Given the description of an element on the screen output the (x, y) to click on. 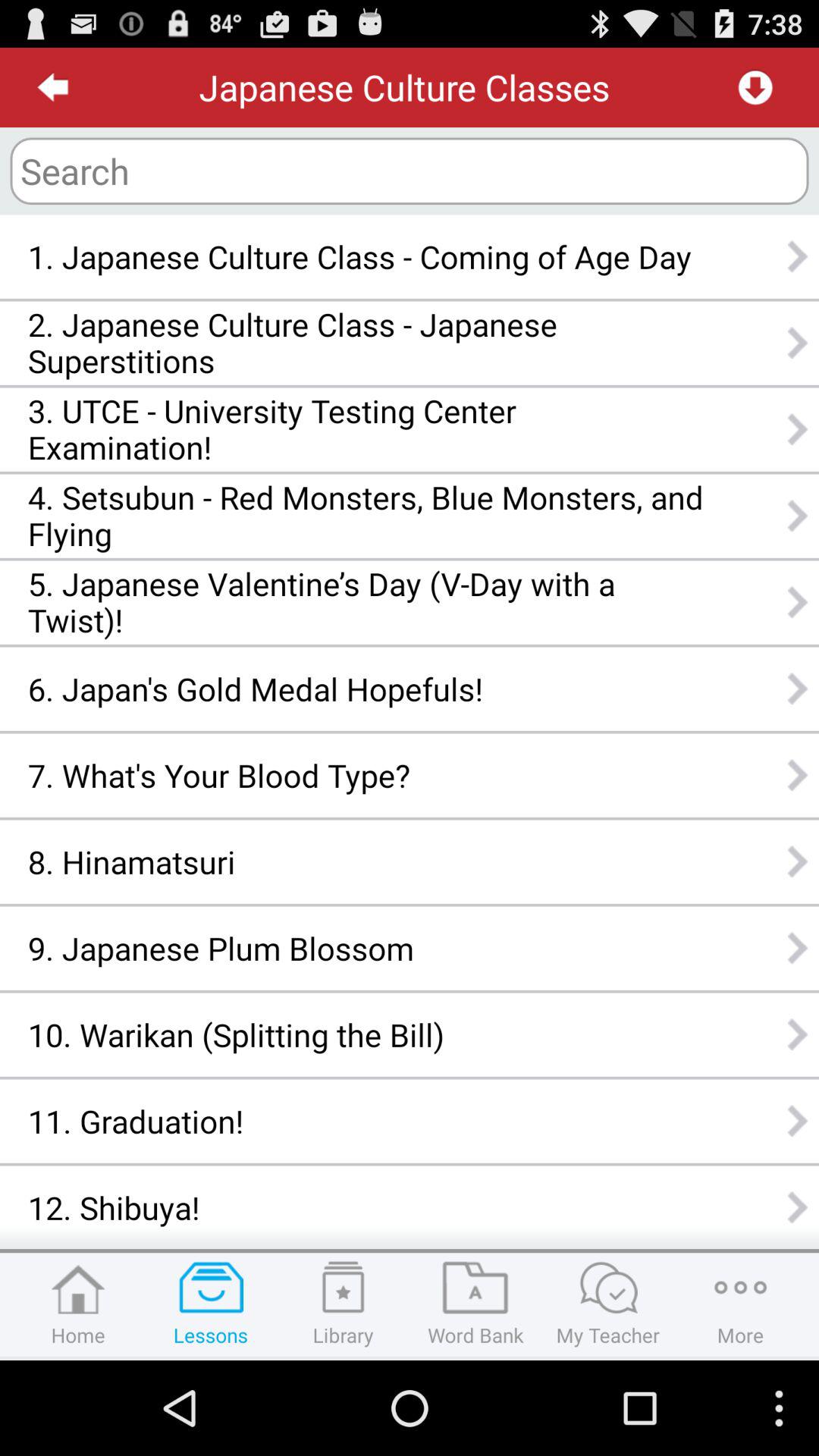
launch 11. graduation! app (365, 1121)
